Given the description of an element on the screen output the (x, y) to click on. 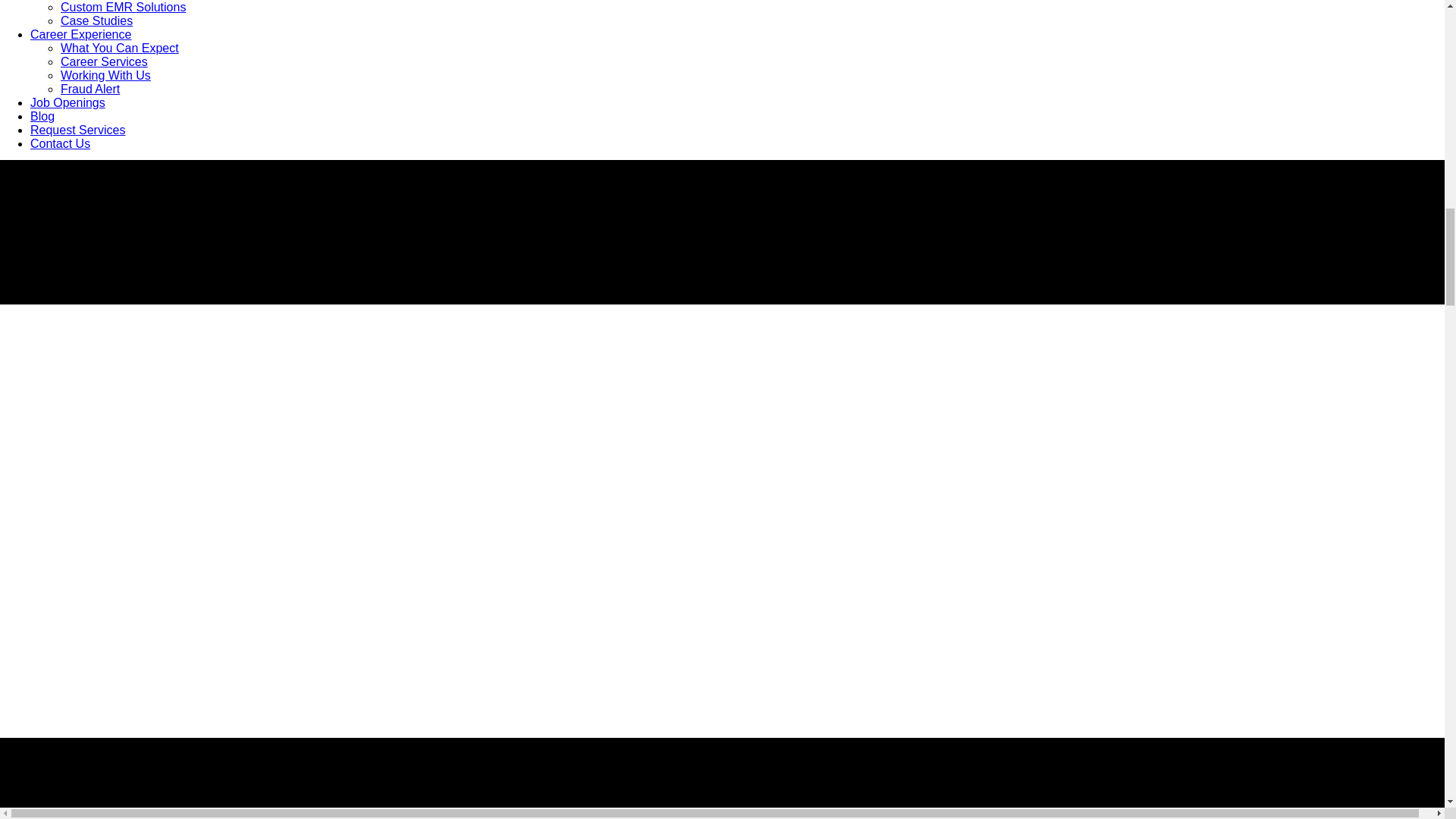
Contact Us (60, 143)
Career Experience (80, 33)
Job Openings (67, 102)
Request Services (77, 129)
Custom EMR Solutions (123, 6)
Case Studies (96, 20)
Fraud Alert (90, 88)
Blog (42, 115)
Working With Us (106, 74)
Career Services (104, 61)
What You Can Expect (120, 47)
